Given the description of an element on the screen output the (x, y) to click on. 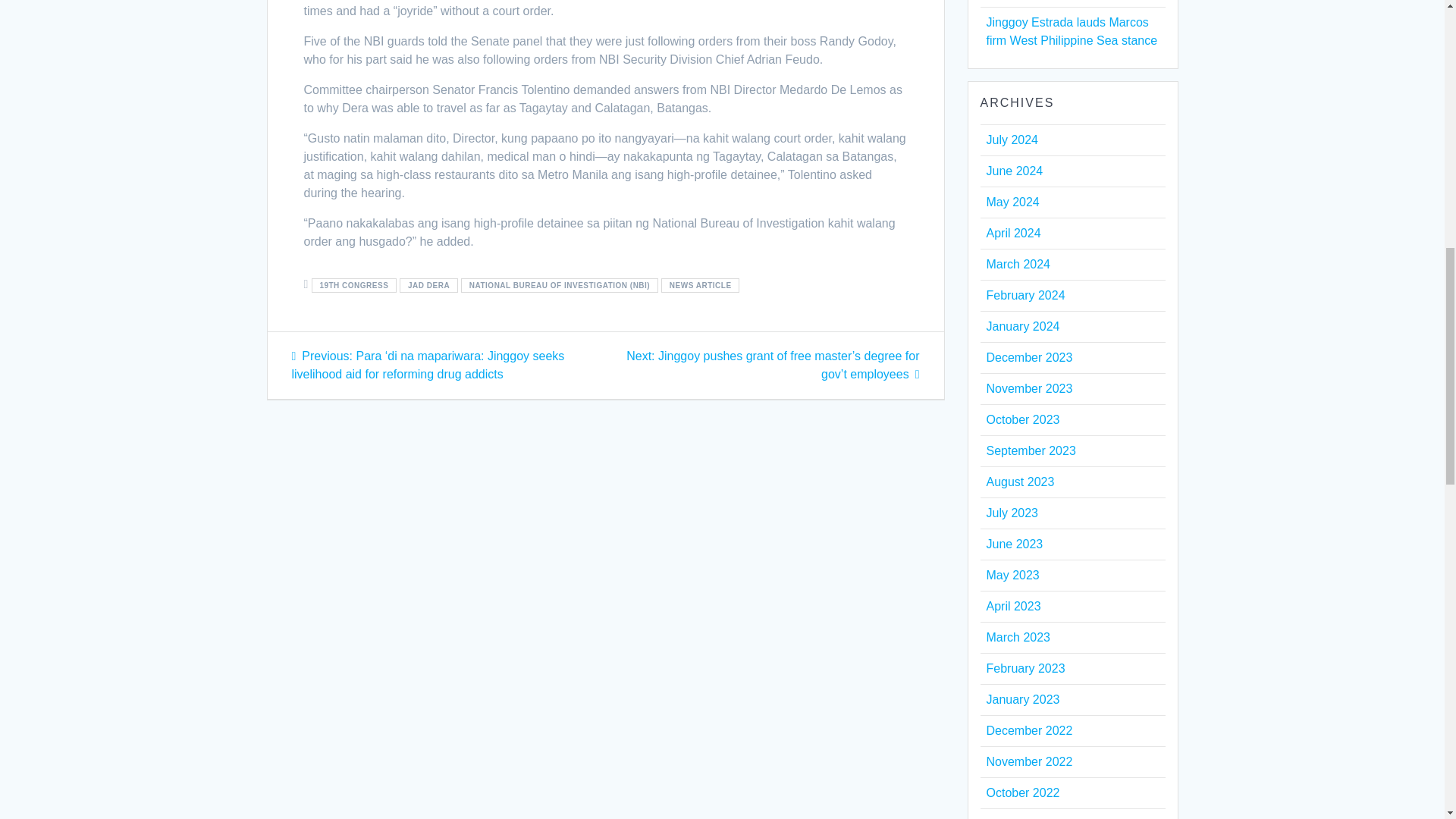
JAD DERA (427, 285)
NEWS ARTICLE (700, 285)
19TH CONGRESS (353, 285)
